Given the description of an element on the screen output the (x, y) to click on. 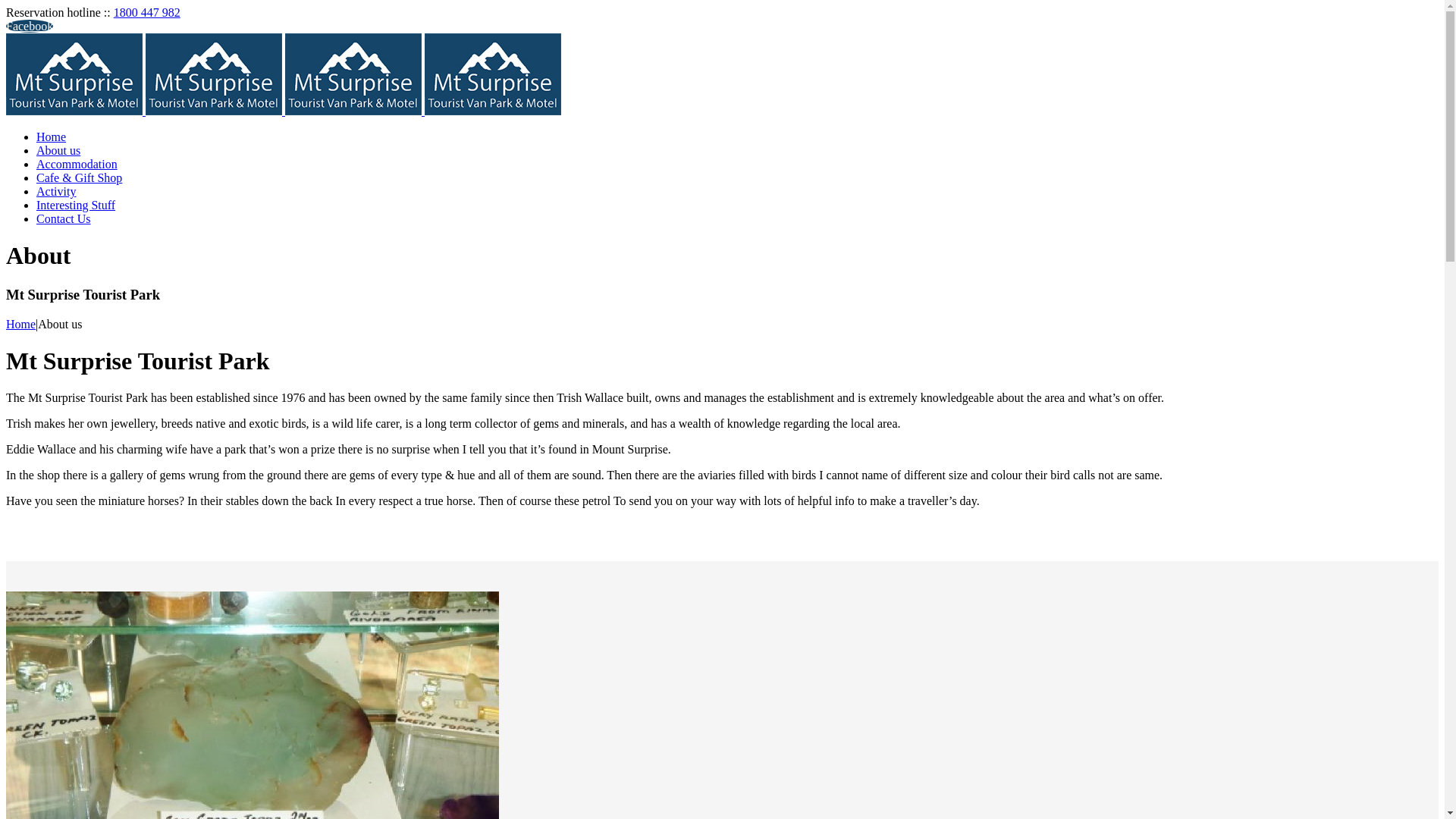
Facebook Element type: text (29, 25)
Home Element type: text (50, 136)
Interesting Stuff Element type: text (75, 204)
Home Element type: text (20, 323)
About us Element type: text (58, 150)
Accommodation Element type: text (76, 163)
Contact Us Element type: text (63, 218)
Cafe & Gift Shop Element type: text (79, 177)
1800 447 982 Element type: text (146, 12)
Activity Element type: text (55, 191)
